Given the description of an element on the screen output the (x, y) to click on. 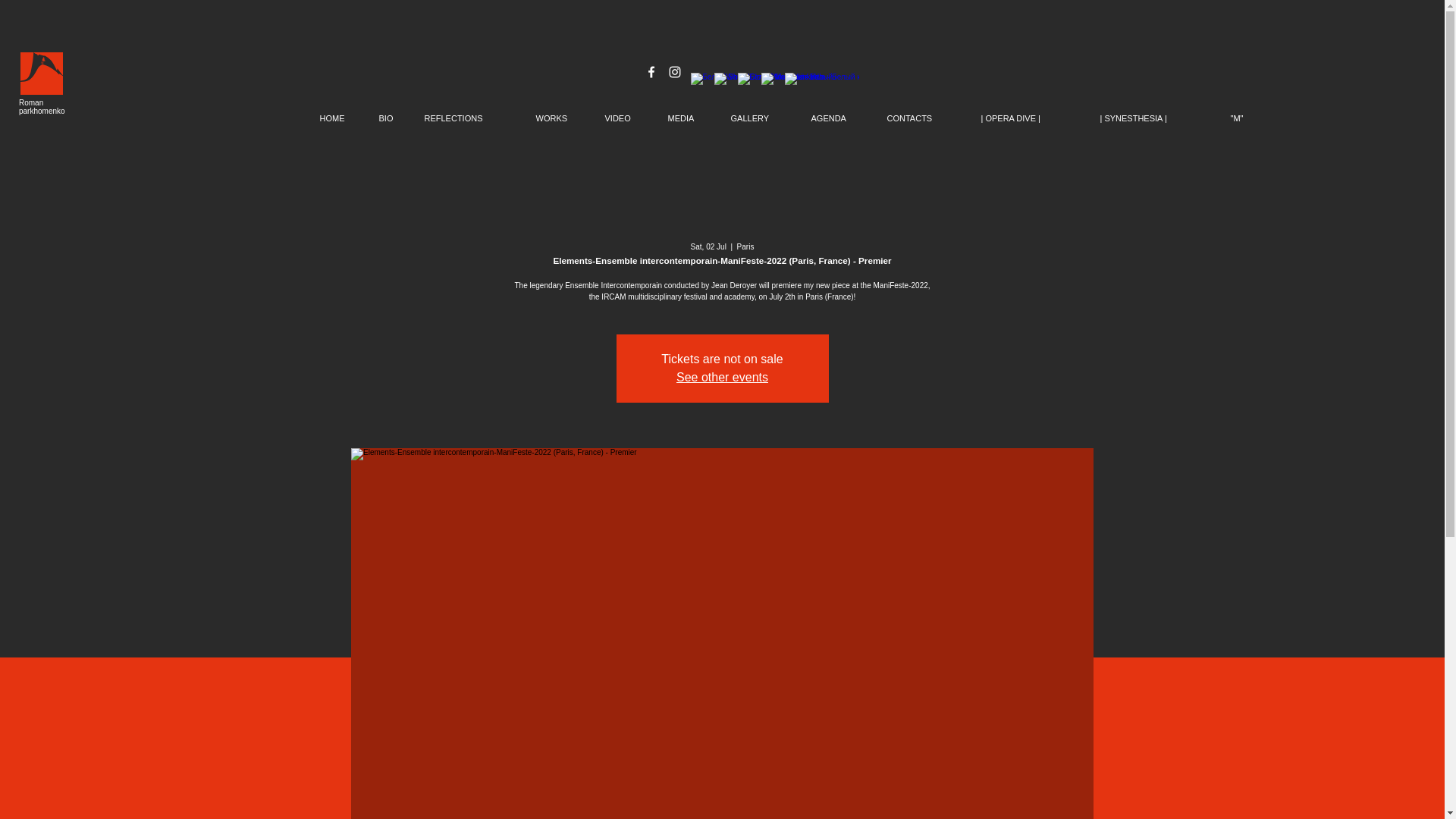
CONTACTS (922, 118)
AGENDA (837, 118)
VIDEO (624, 118)
HOME (336, 118)
REFLECTIONS (468, 118)
See other events (722, 377)
GALLERY (759, 118)
Roman (30, 102)
WORKS (559, 118)
MEDIA (687, 118)
